Given the description of an element on the screen output the (x, y) to click on. 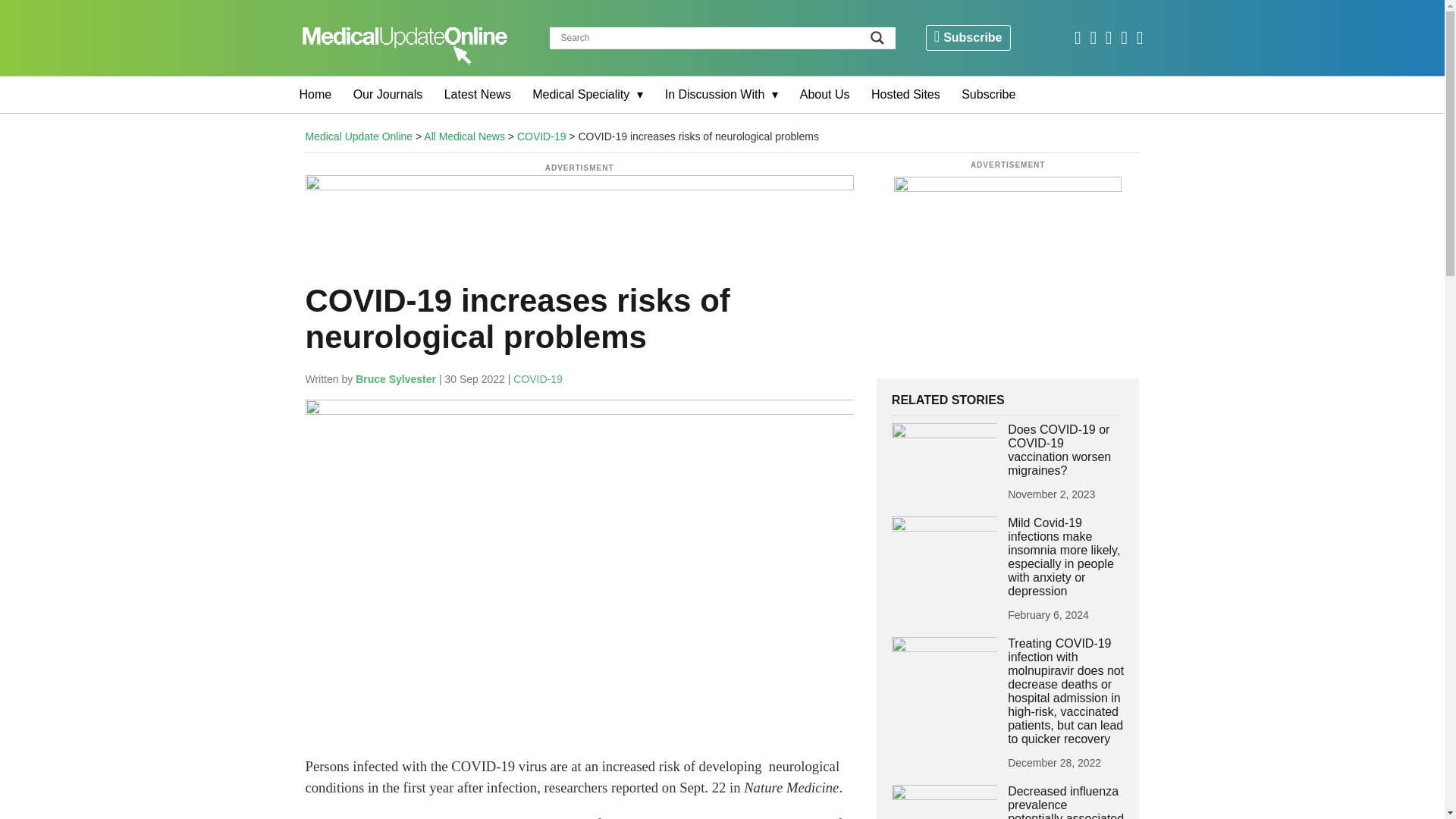
Medical Speciality (587, 94)
Go to Medical Update Online. (358, 136)
Latest News (477, 94)
Subscribe (968, 37)
Go to the COVID-19 Category archives. (541, 136)
Posts by Bruce Sylvester (395, 378)
Home (314, 94)
Go to All Medical News. (464, 136)
Our Journals (387, 94)
